Given the description of an element on the screen output the (x, y) to click on. 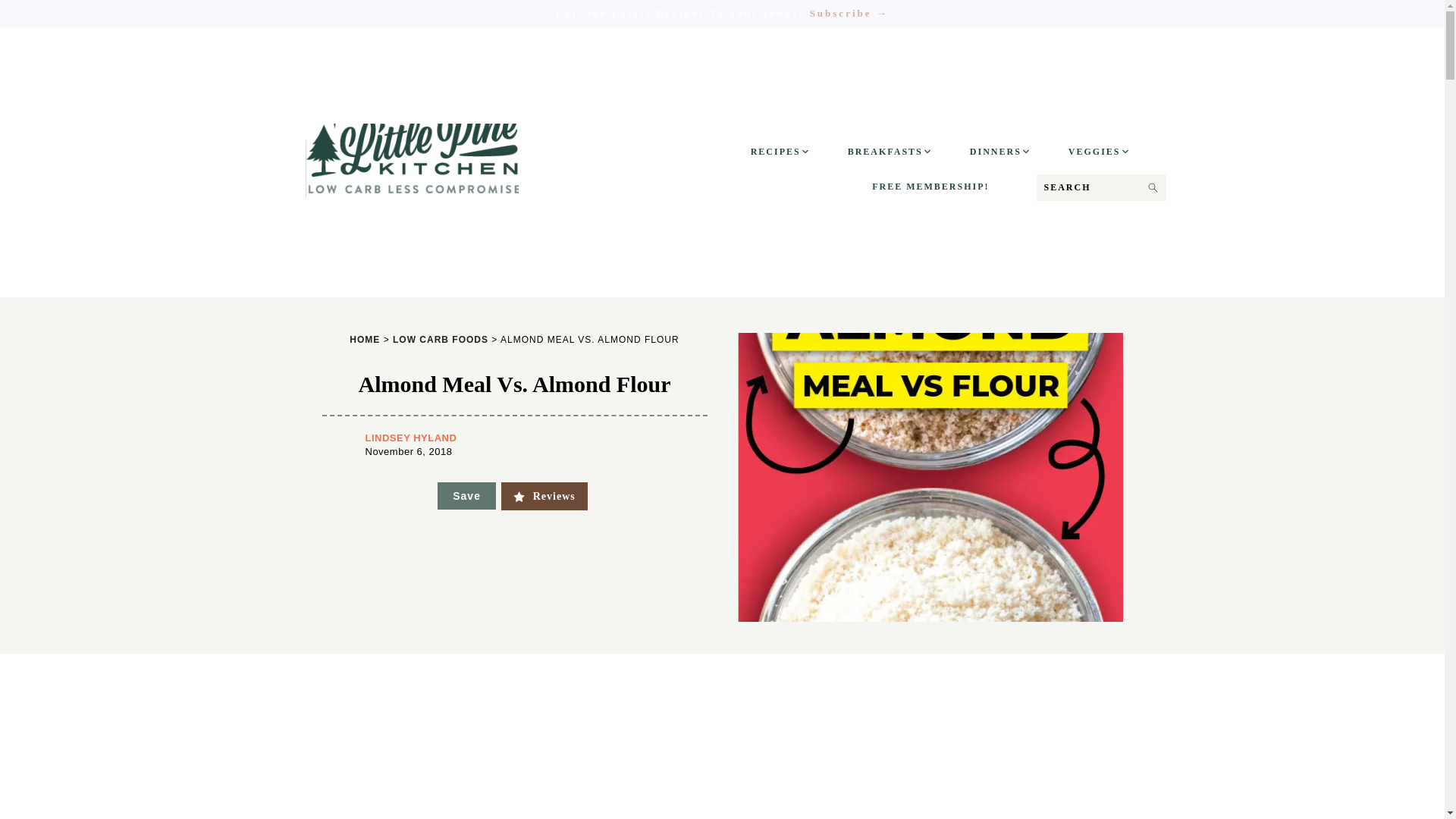
VEGGIES (1101, 151)
LOW CARB FOODS (440, 343)
Save (467, 495)
BREAKFASTS (892, 151)
HOME (364, 343)
DINNERS (1002, 151)
RECIPES (783, 151)
